Given the description of an element on the screen output the (x, y) to click on. 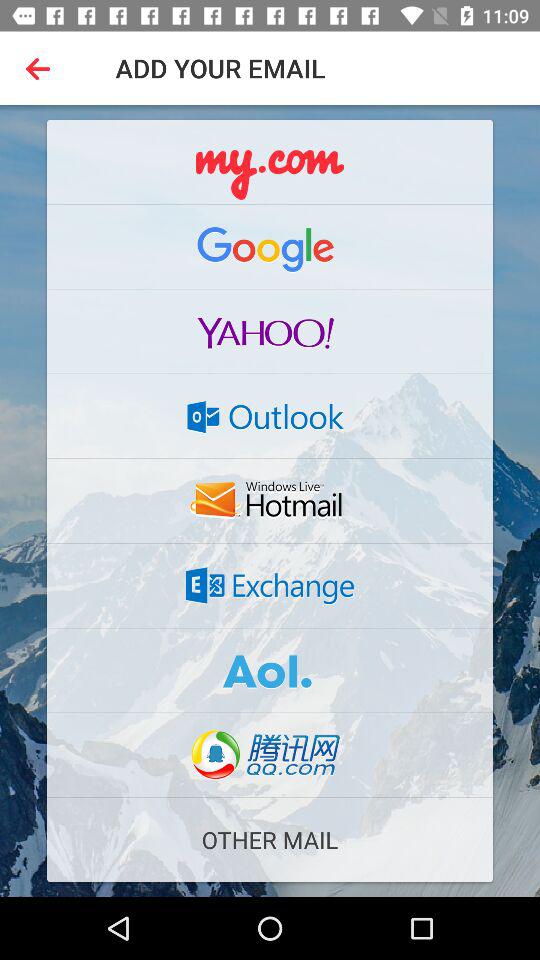
tap icon above the other mail (269, 755)
